Given the description of an element on the screen output the (x, y) to click on. 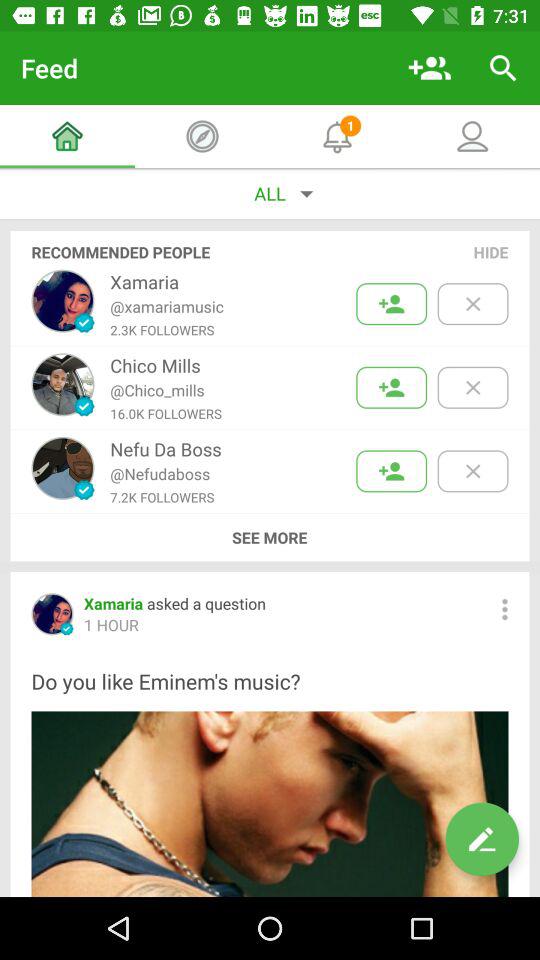
turn on icon next to recommended people (491, 251)
